Given the description of an element on the screen output the (x, y) to click on. 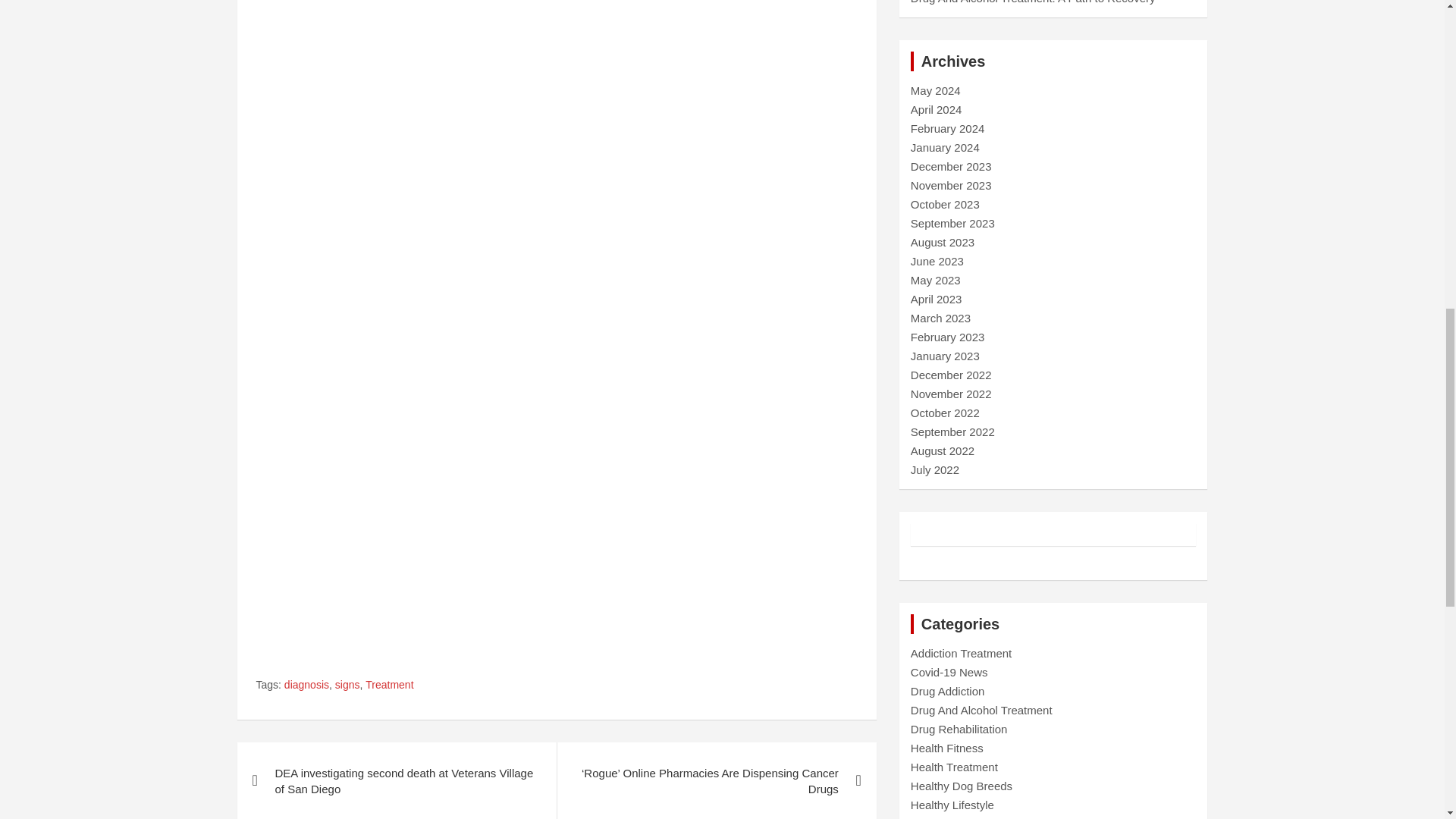
diagnosis (306, 685)
signs (346, 685)
Treatment (389, 685)
